Given the description of an element on the screen output the (x, y) to click on. 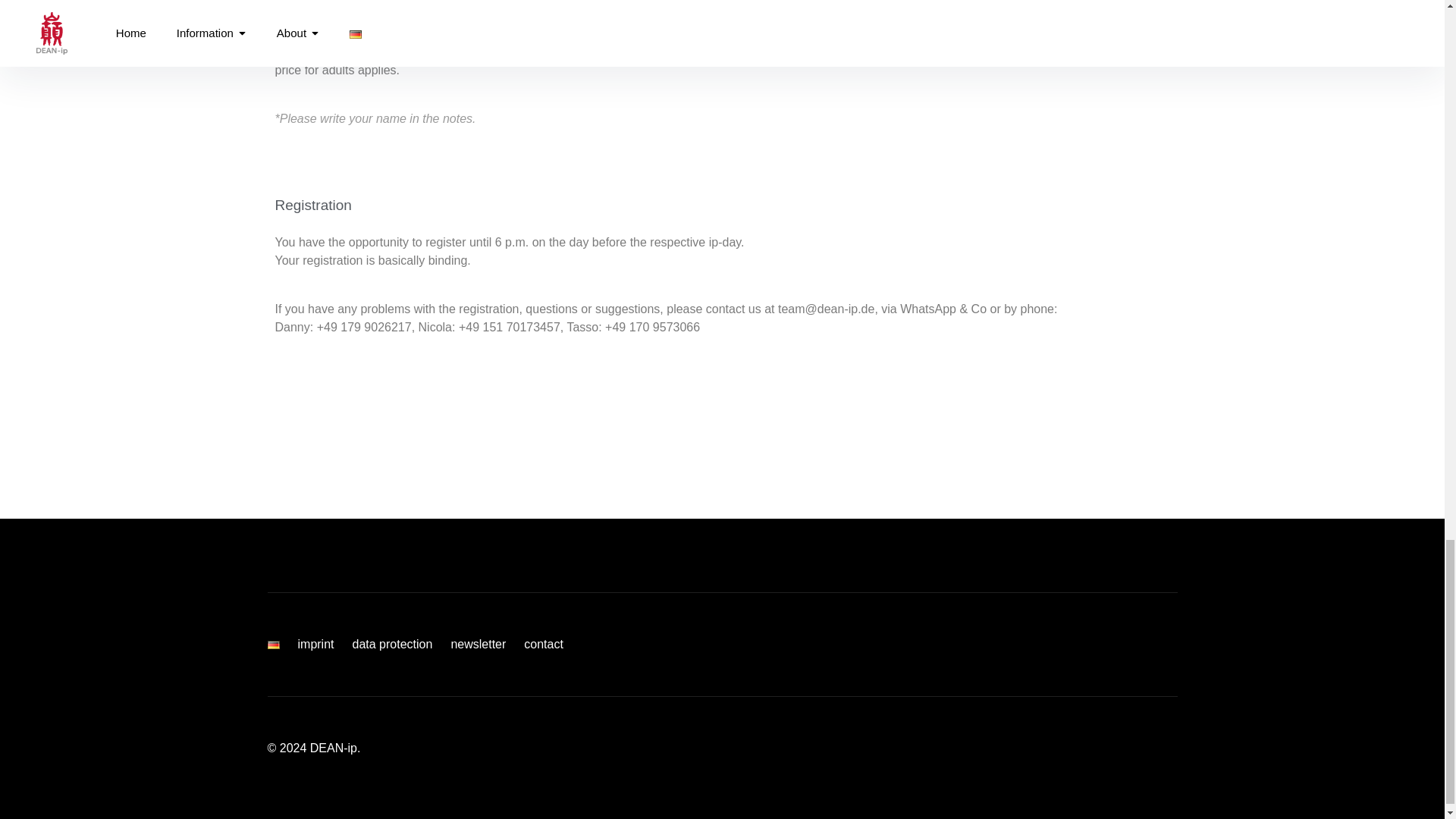
imprint (315, 644)
newsletter (477, 644)
contact (543, 644)
data protection (392, 644)
